Given the description of an element on the screen output the (x, y) to click on. 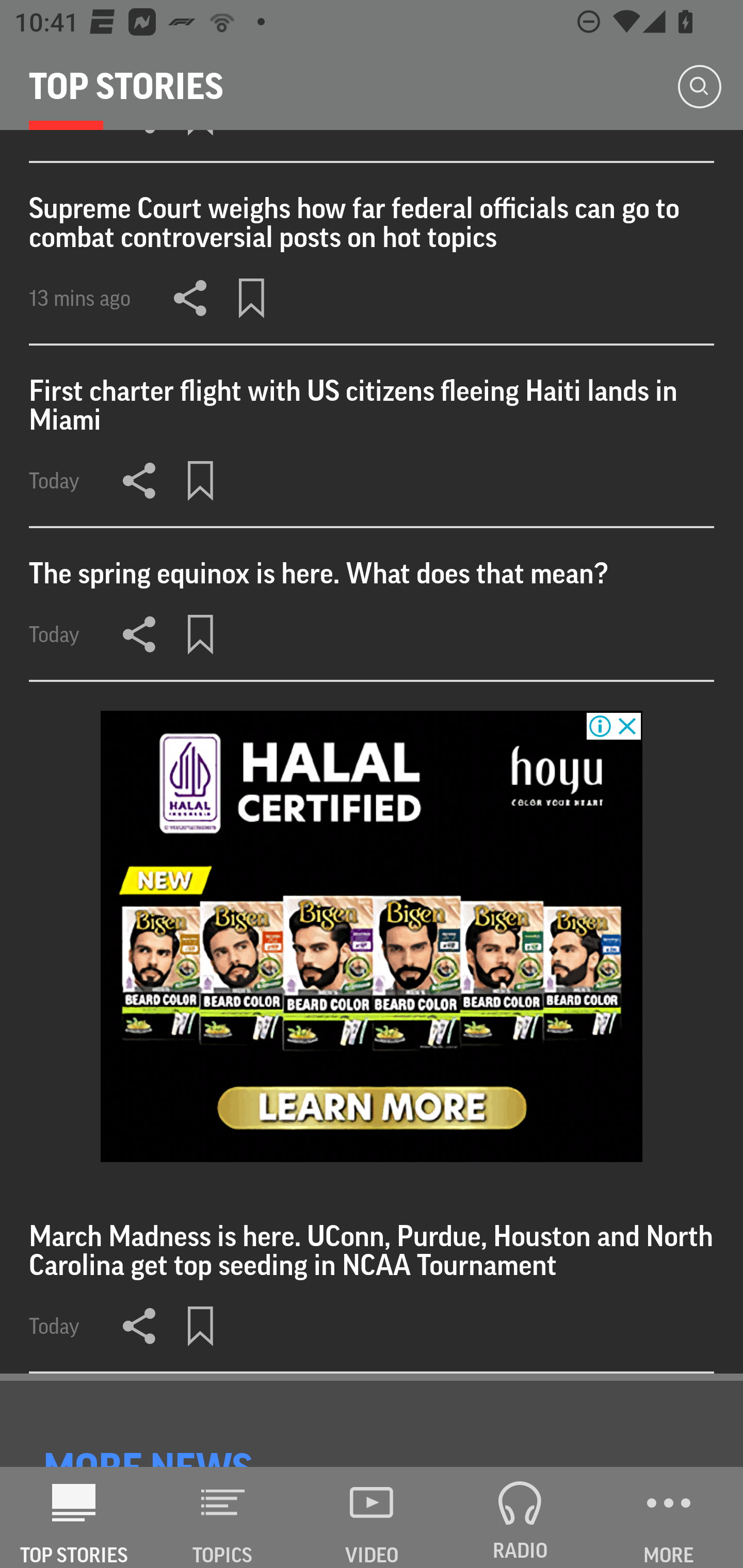
28 (371, 935)
AP News TOP STORIES (74, 1517)
TOPICS (222, 1517)
VIDEO (371, 1517)
RADIO (519, 1517)
MORE (668, 1517)
